Given the description of an element on the screen output the (x, y) to click on. 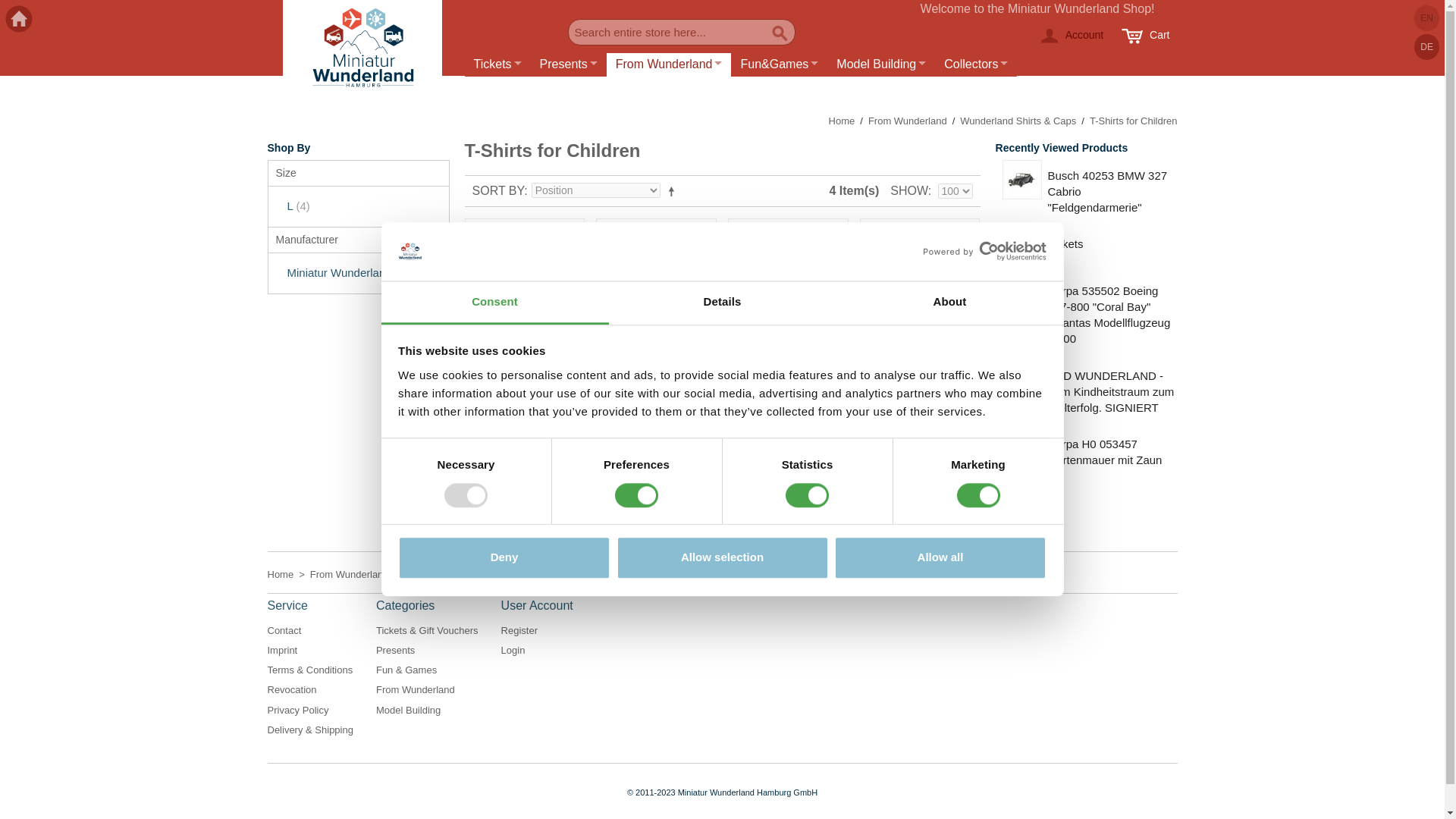
Allow all (940, 558)
Cart (1144, 35)
Details (721, 302)
Consent (494, 302)
Deny (503, 558)
Allow selection (721, 558)
Account (1071, 35)
Main Site (18, 19)
About (948, 302)
